Given the description of an element on the screen output the (x, y) to click on. 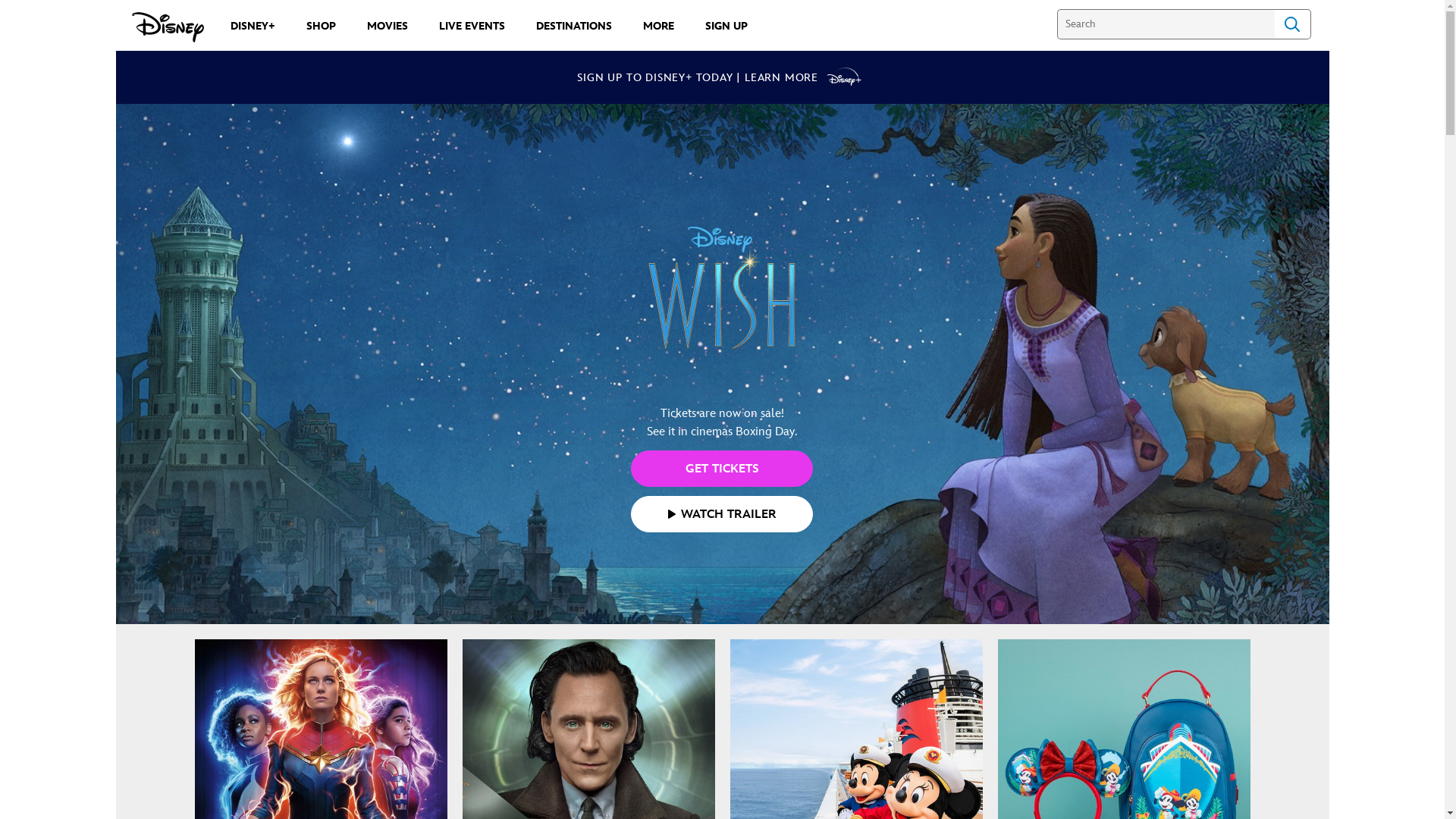
DISNEY+ Element type: text (252, 25)
MORE Element type: text (658, 25)
SIGN UP Element type: text (726, 25)
Tickets are now on sale!
See it in cinemas Boxing Day. Element type: text (721, 318)
WATCH TRAILER Element type: text (721, 513)
Search Element type: text (1292, 24)
LIVE EVENTS Element type: text (471, 25)
GET TICKETS Element type: text (721, 468)
SIGN UP TO DISNEY+ TODAY | LEARN MORE Element type: text (721, 77)
MOVIES Element type: text (387, 25)
DESTINATIONS Element type: text (573, 25)
SHOP Element type: text (321, 25)
